Given the description of an element on the screen output the (x, y) to click on. 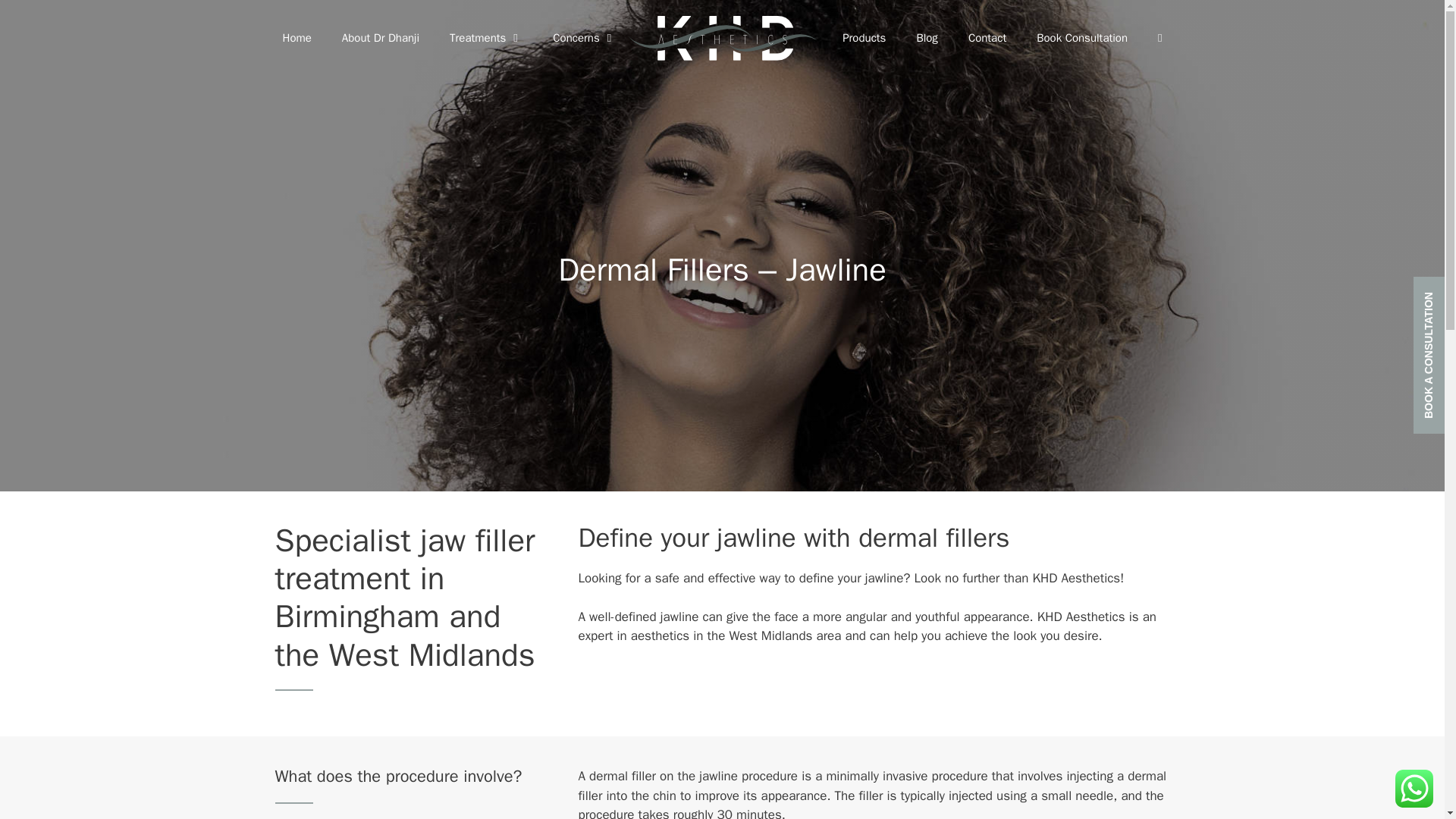
Concerns (583, 37)
About Dr Dhanji (379, 37)
View your shopping cart (1159, 37)
Treatments (485, 37)
Home (296, 37)
